Given the description of an element on the screen output the (x, y) to click on. 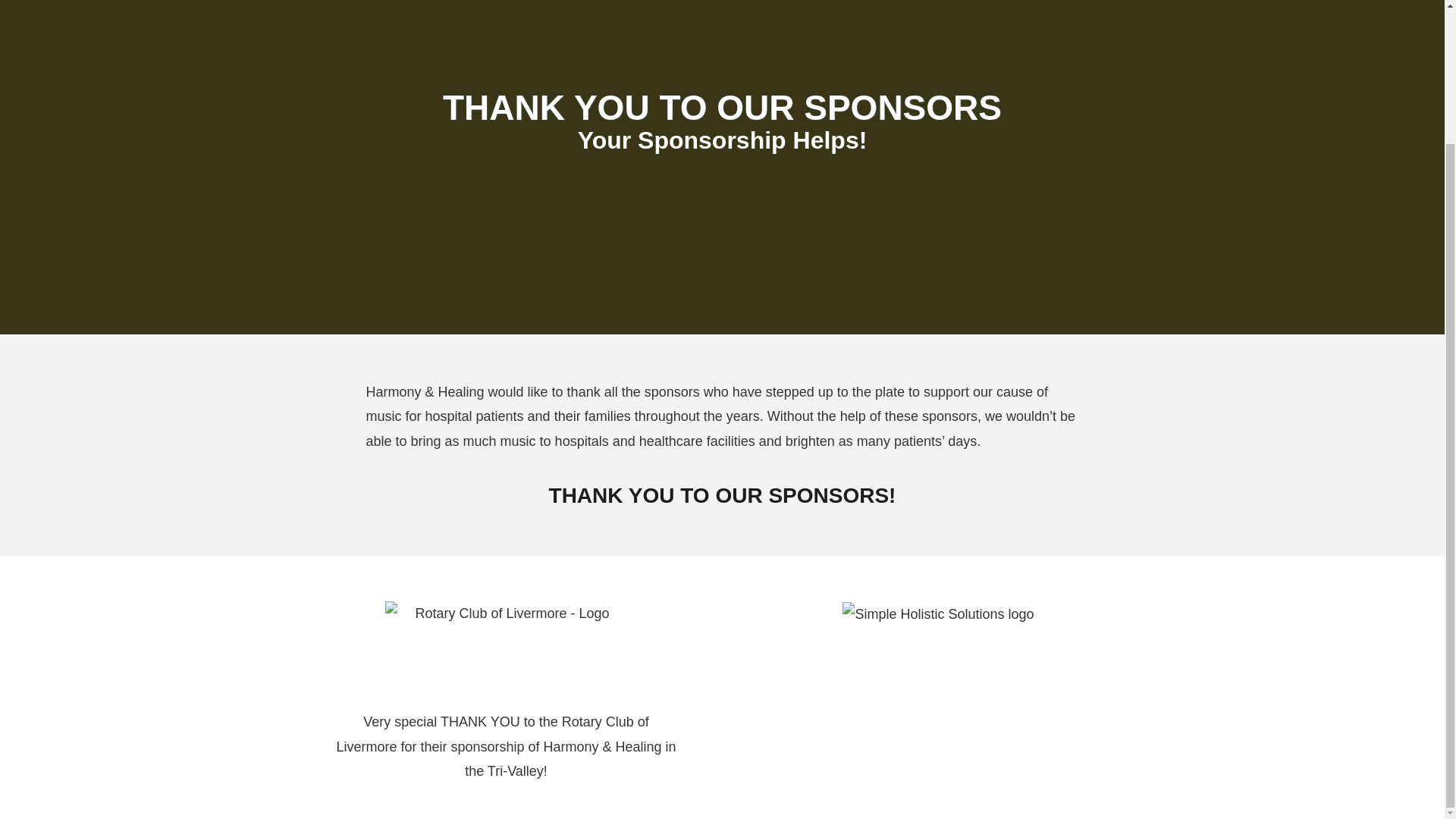
Thank You to our Sponsors! 1 (506, 647)
simple-holistic-solutions (938, 613)
